Given the description of an element on the screen output the (x, y) to click on. 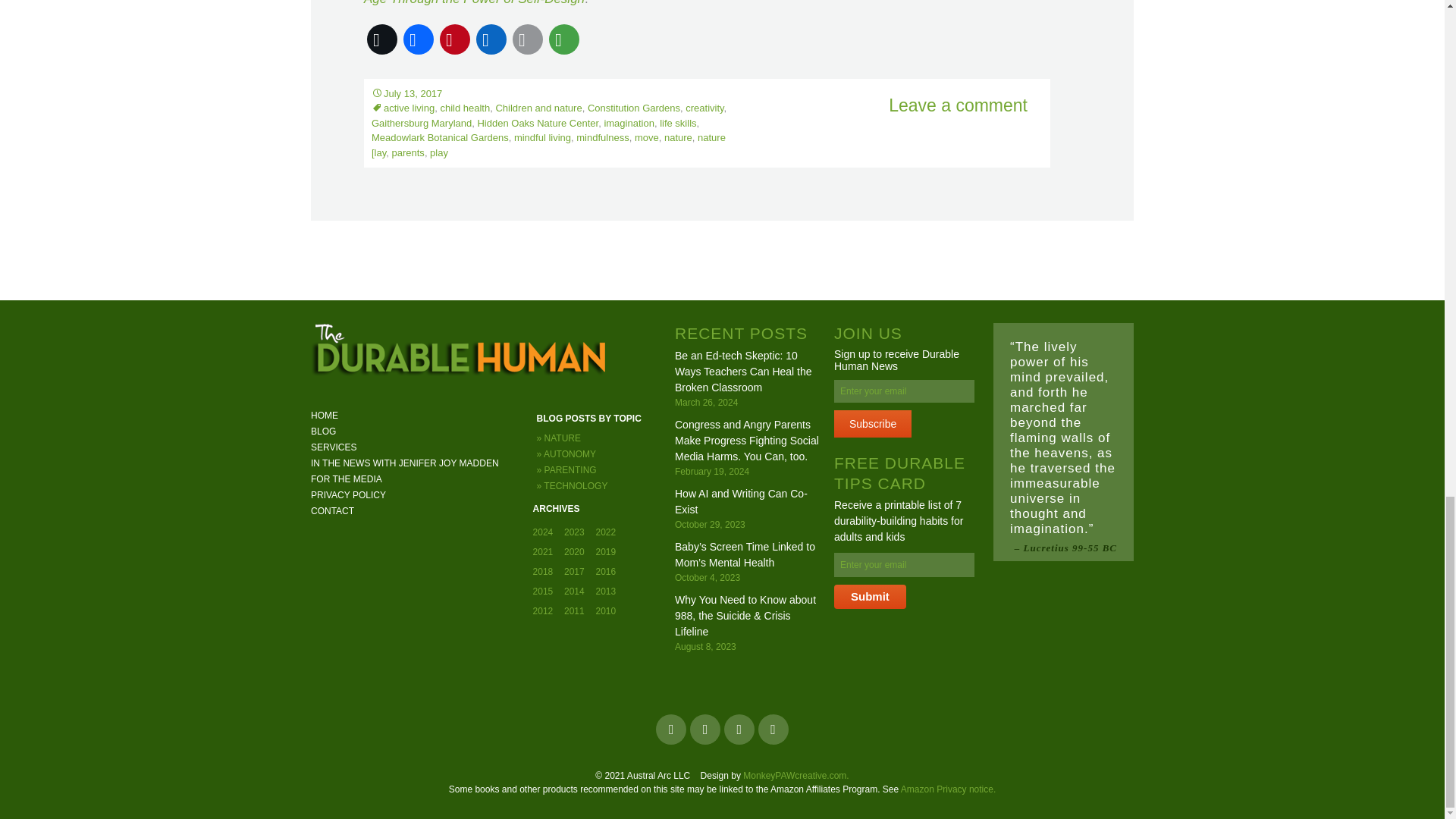
Facebook (418, 39)
Subscribe (872, 423)
Pinterest (454, 39)
More Options (564, 39)
LinkedIn (491, 39)
Submit (869, 596)
Email This (527, 39)
